Given the description of an element on the screen output the (x, y) to click on. 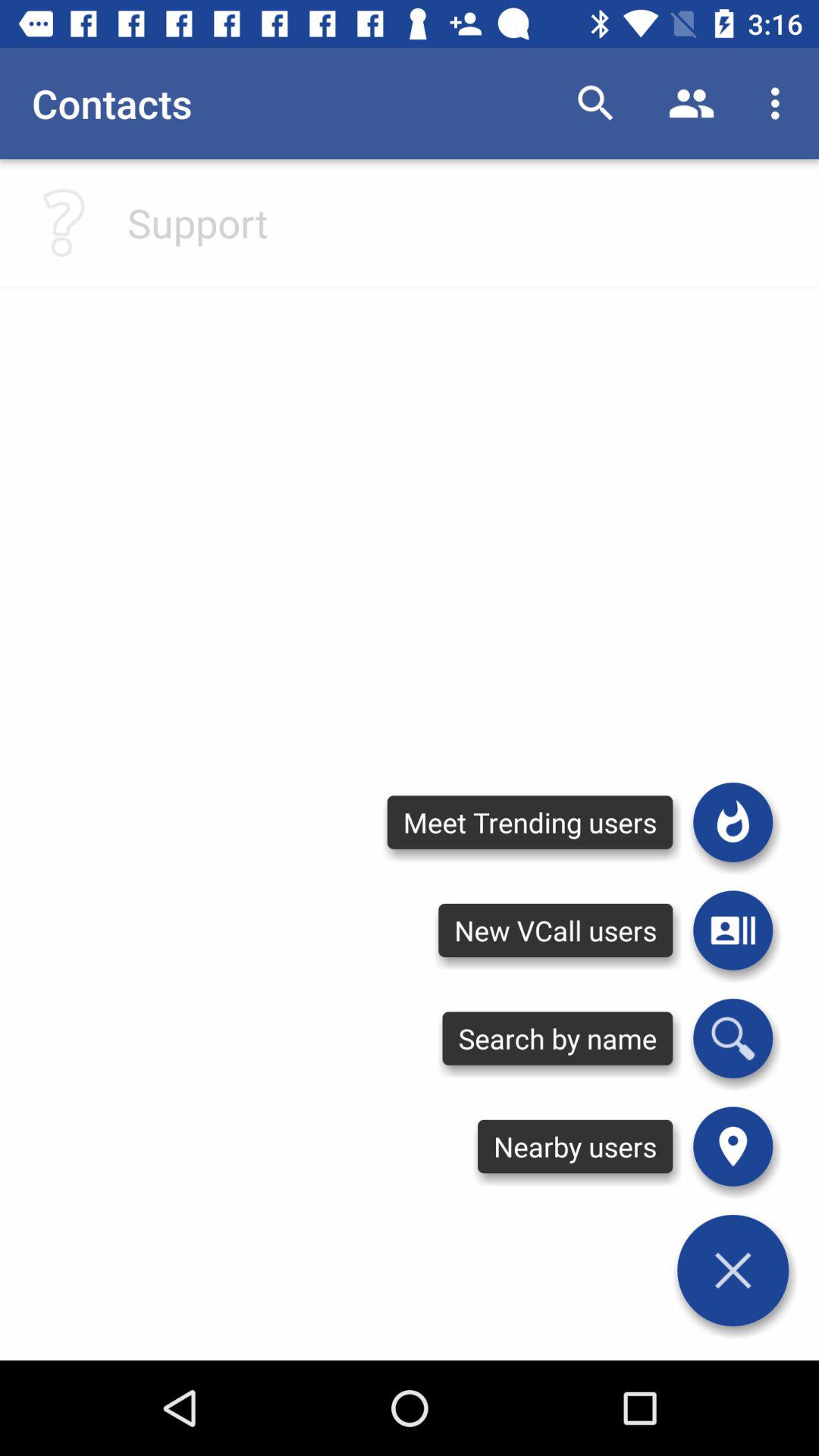
close (733, 1270)
